Given the description of an element on the screen output the (x, y) to click on. 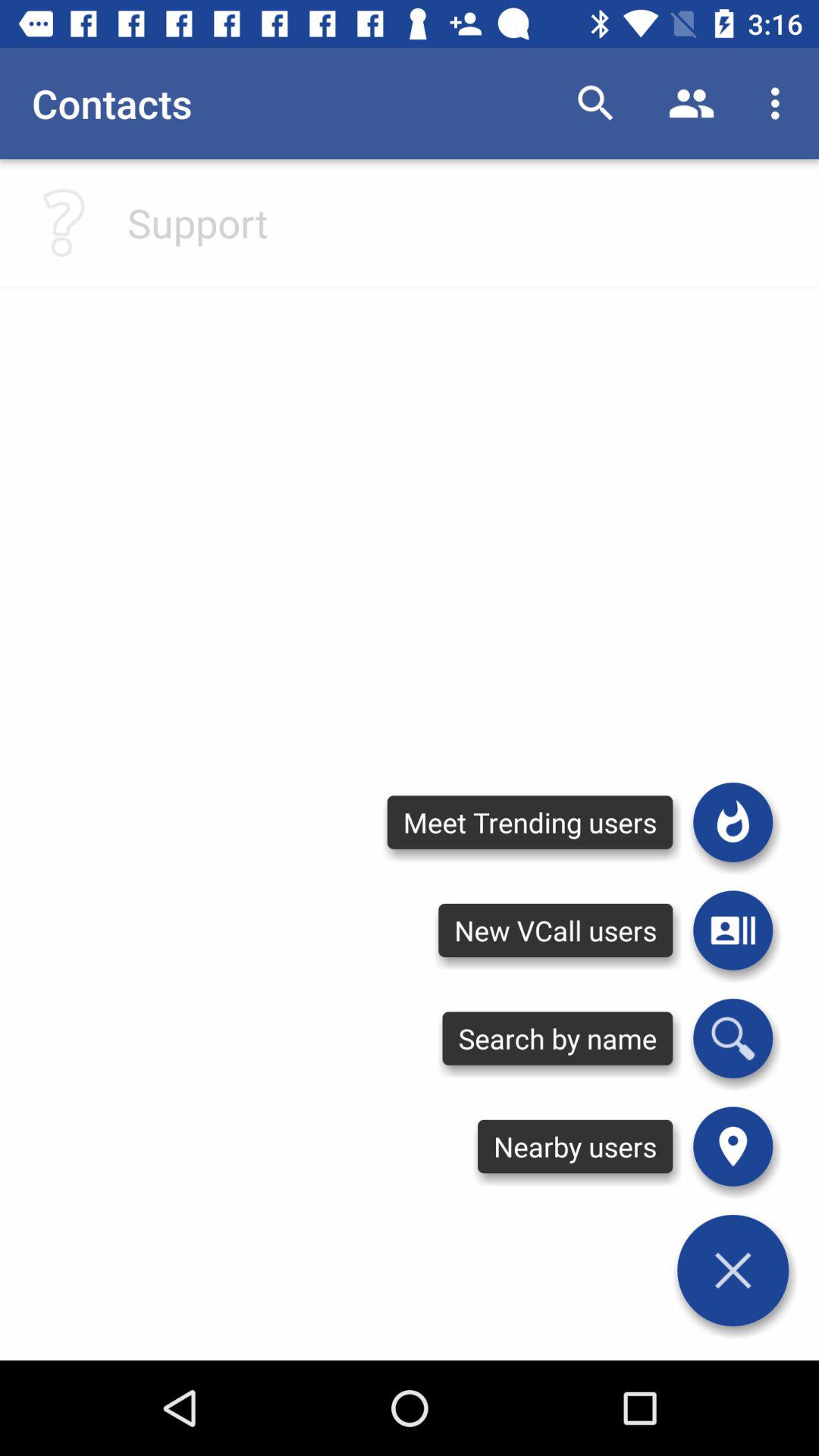
close (733, 1270)
